Given the description of an element on the screen output the (x, y) to click on. 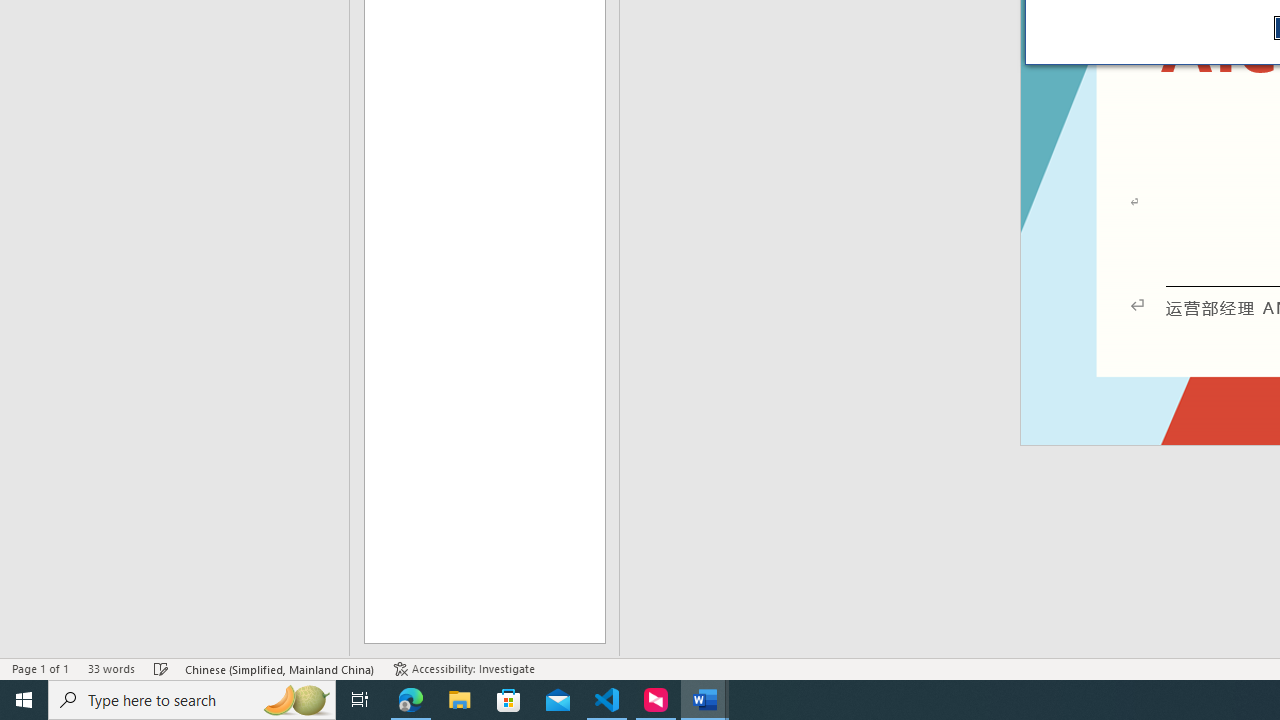
Microsoft Edge - 1 running window (411, 699)
